Given the description of an element on the screen output the (x, y) to click on. 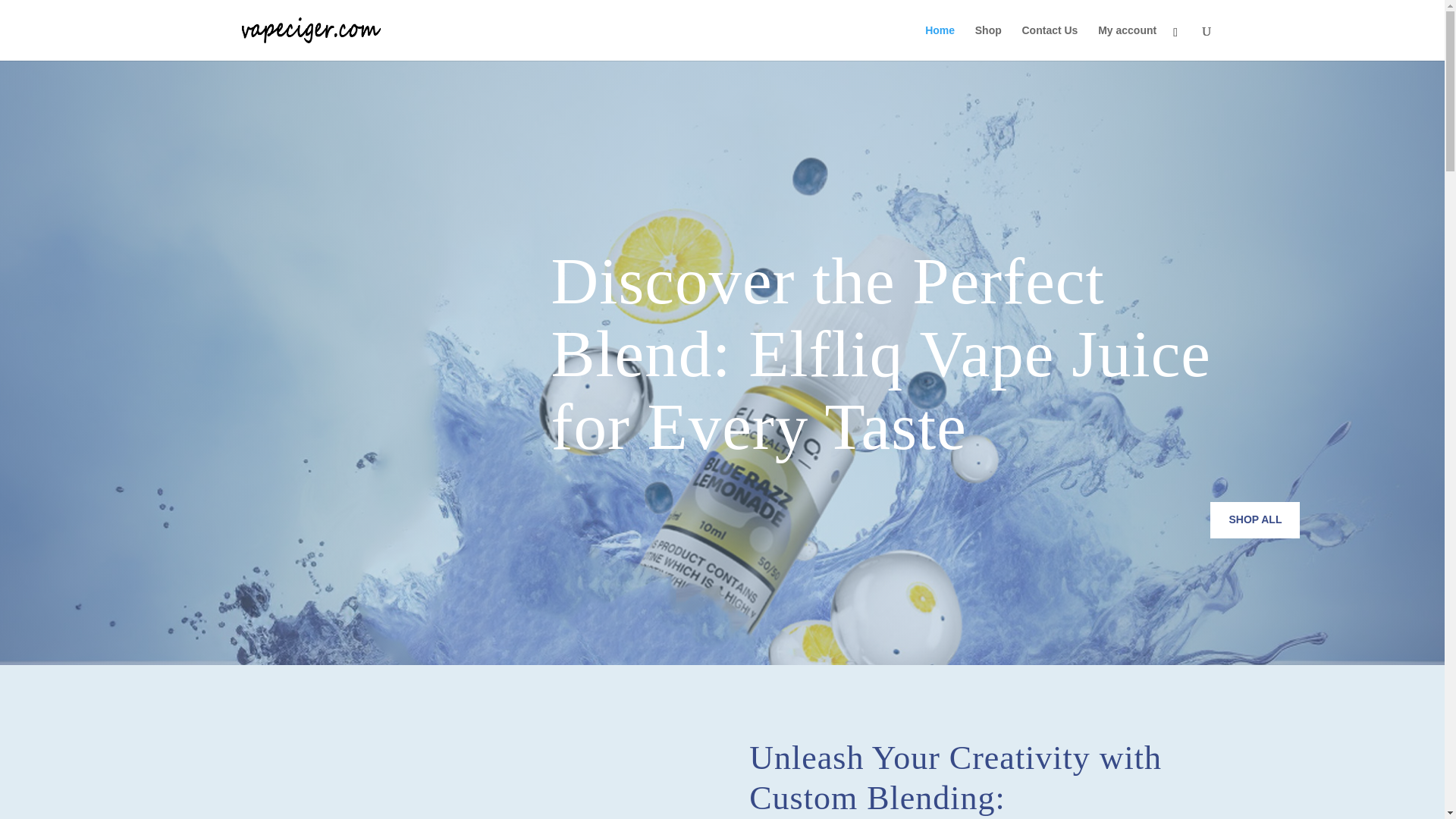
Contact Us (1050, 42)
SHOP ALL (1254, 520)
My account (1126, 42)
